Given the description of an element on the screen output the (x, y) to click on. 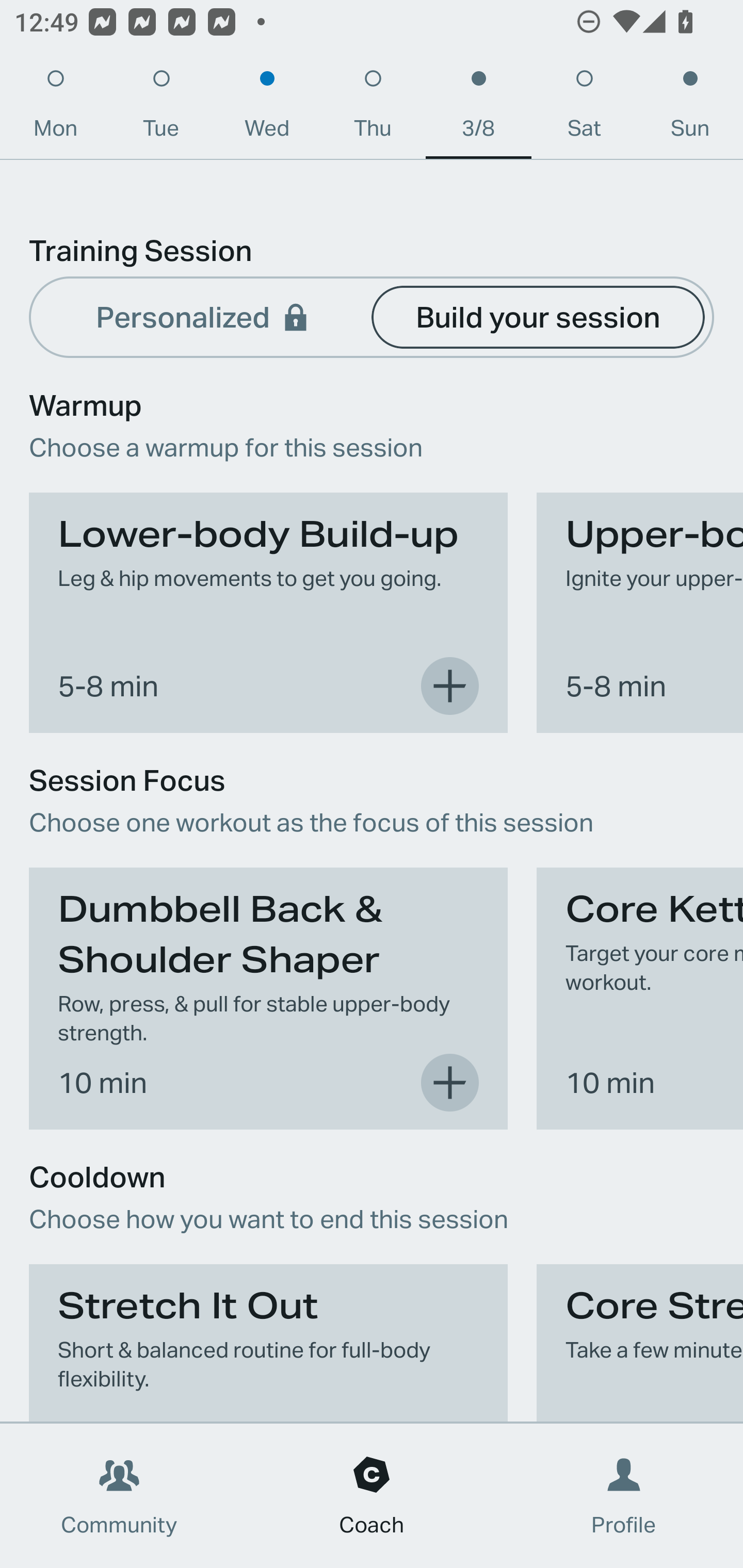
Mon (55, 108)
Tue (160, 108)
Wed (266, 108)
Thu (372, 108)
3/8 (478, 108)
Sat (584, 108)
Sun (690, 108)
Personalized (204, 315)
Build your session (538, 315)
Community (119, 1495)
Profile (624, 1495)
